Given the description of an element on the screen output the (x, y) to click on. 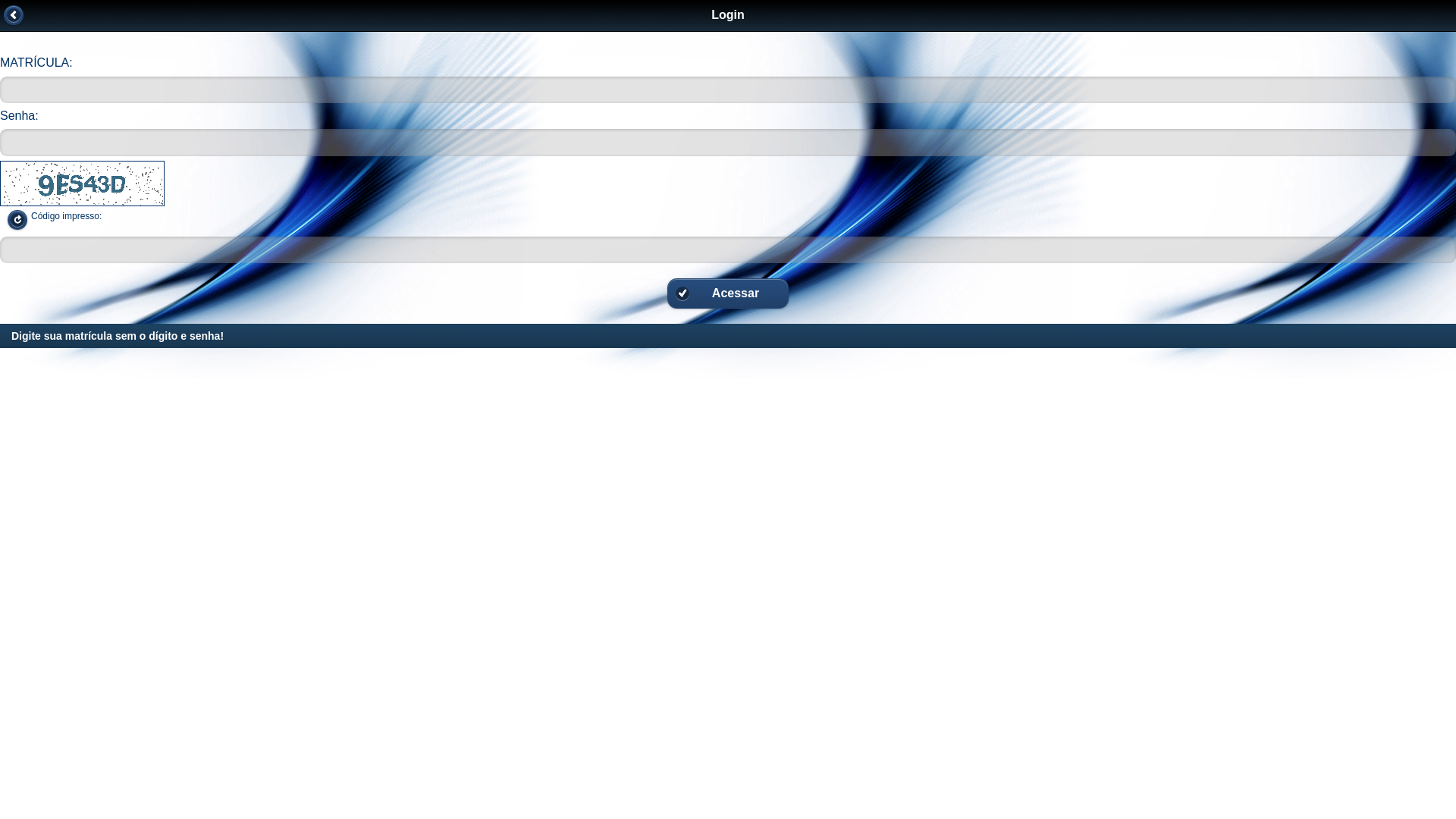
Acessar Element type: text (727, 293)
  Element type: text (13, 15)
Voltar Element type: hover (13, 15)
  Element type: text (17, 219)
